Given the description of an element on the screen output the (x, y) to click on. 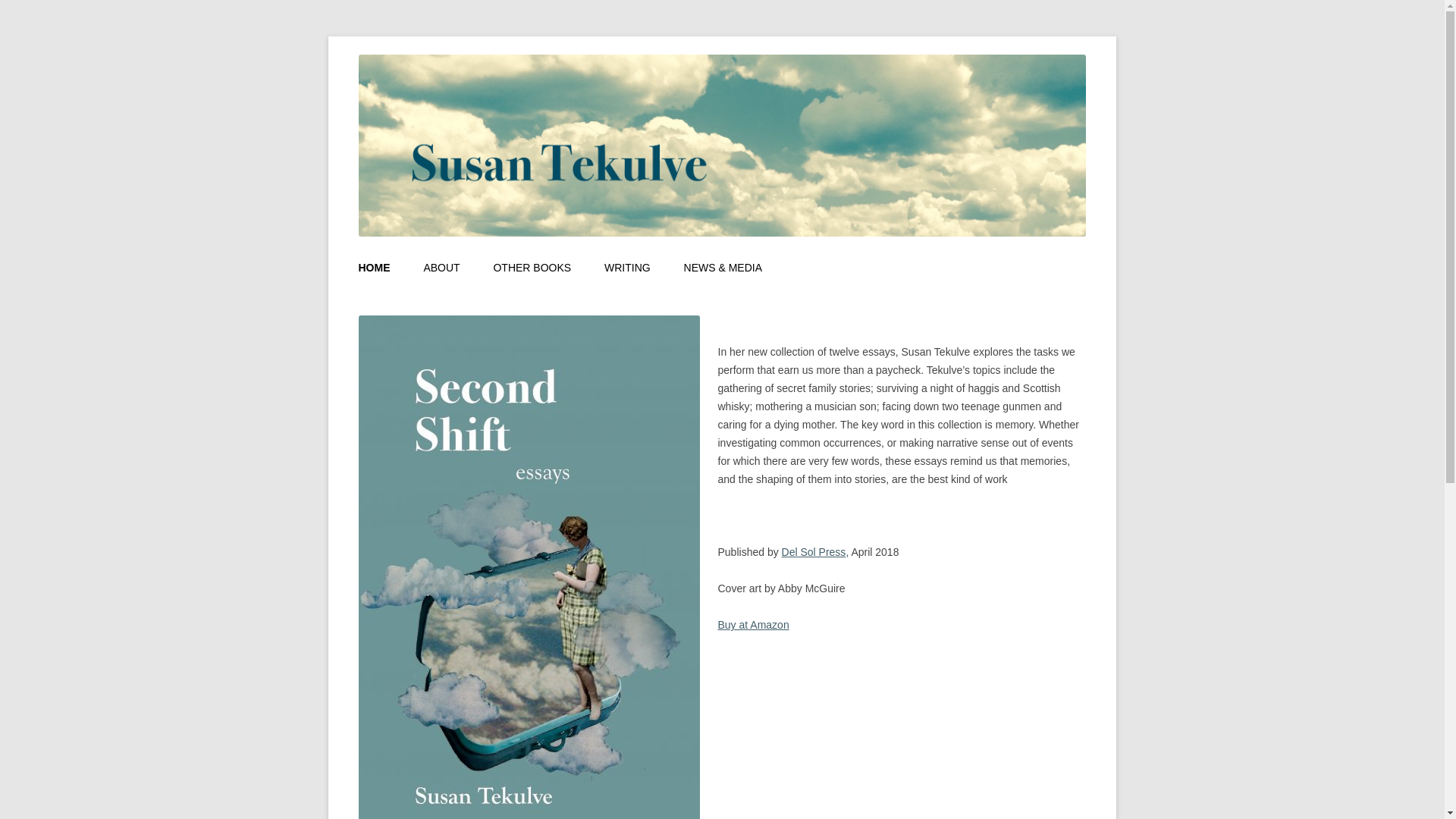
WRITING (627, 268)
Susan Tekulve (426, 54)
Del Sol Press (813, 551)
Buy at Amazon (753, 624)
ABOUT (441, 268)
Susan Tekulve (426, 54)
OTHER BOOKS (531, 268)
